Given the description of an element on the screen output the (x, y) to click on. 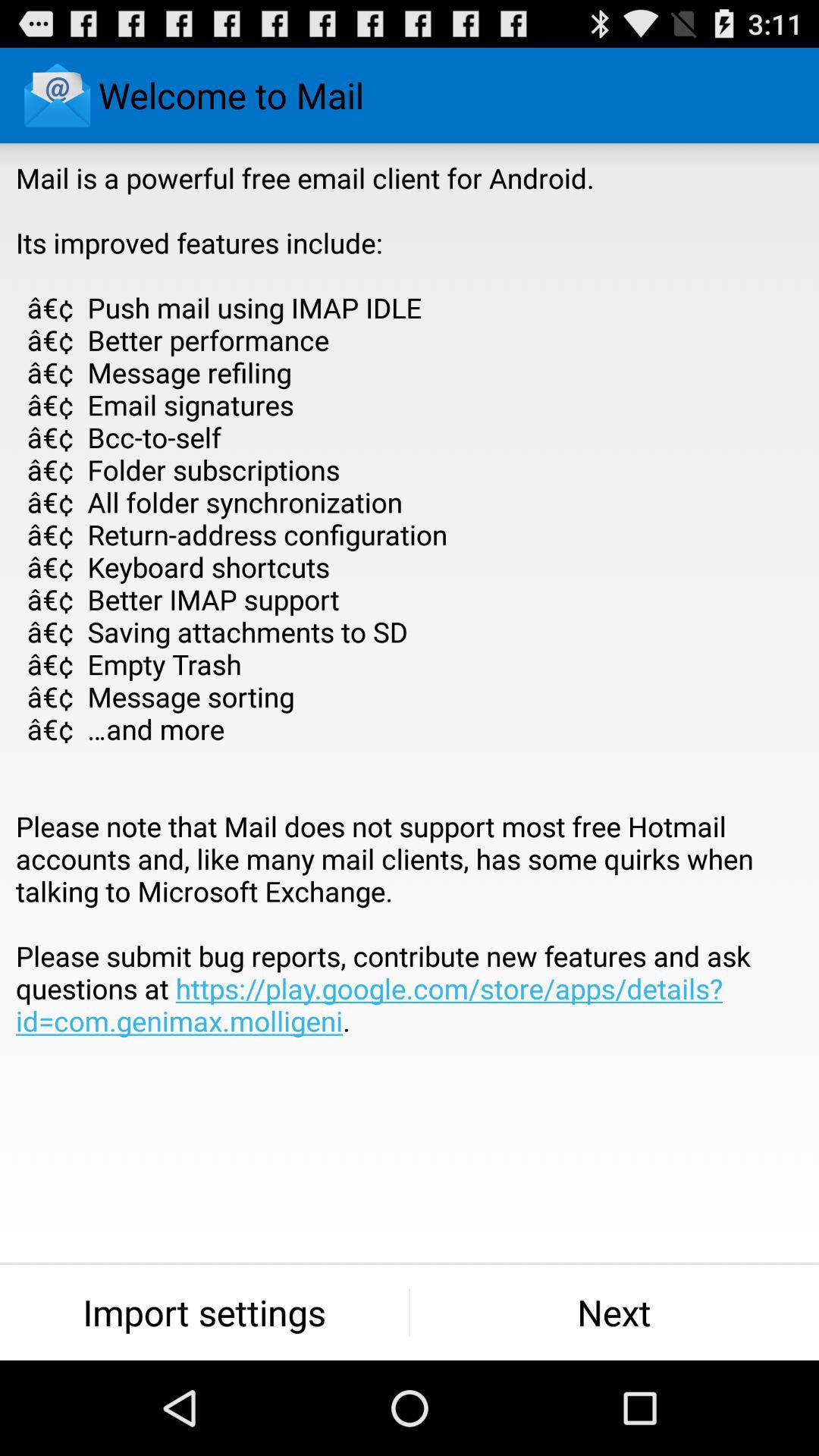
select the mail is a item (409, 631)
